Given the description of an element on the screen output the (x, y) to click on. 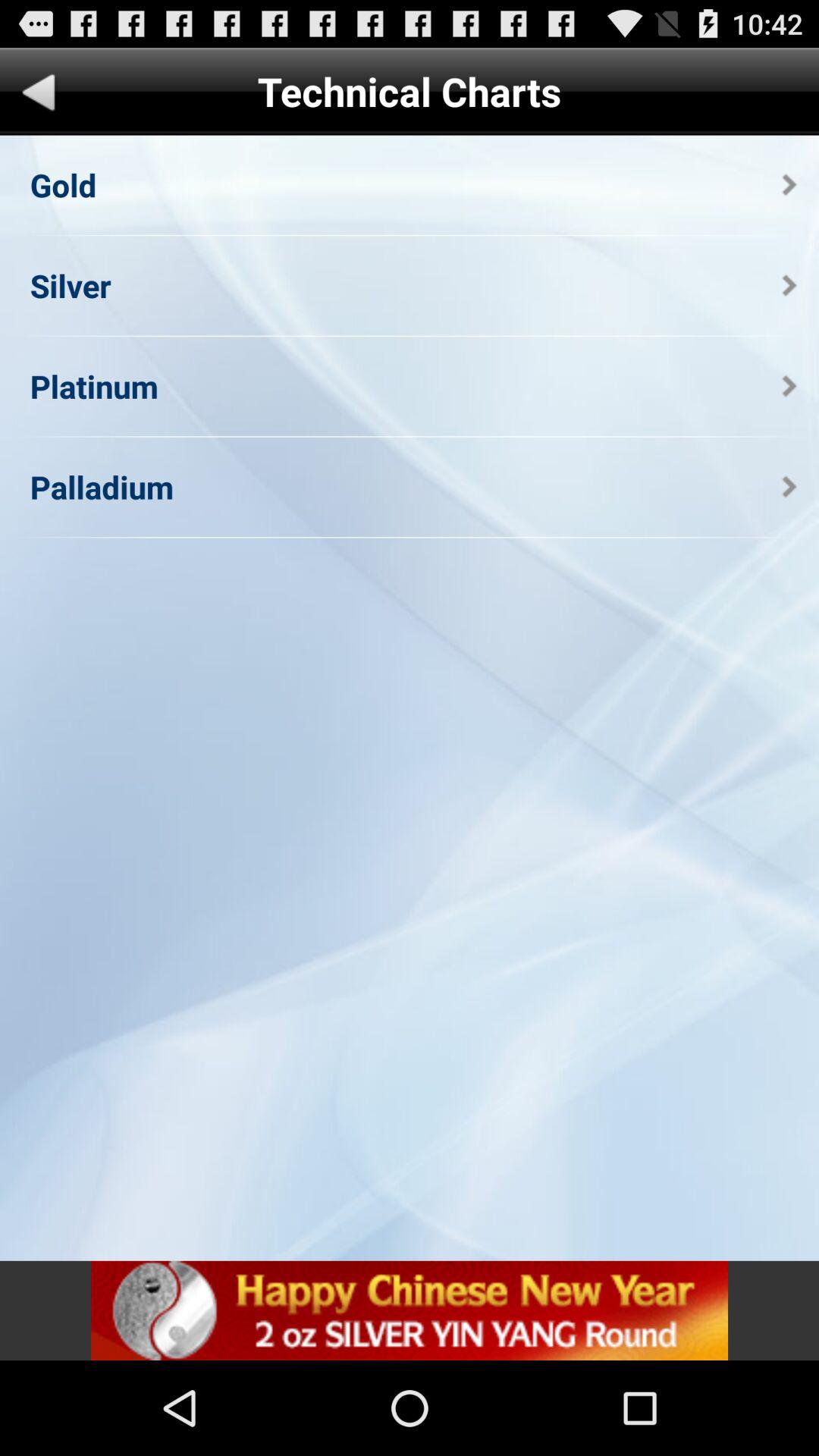
click app below silver app (94, 385)
